Given the description of an element on the screen output the (x, y) to click on. 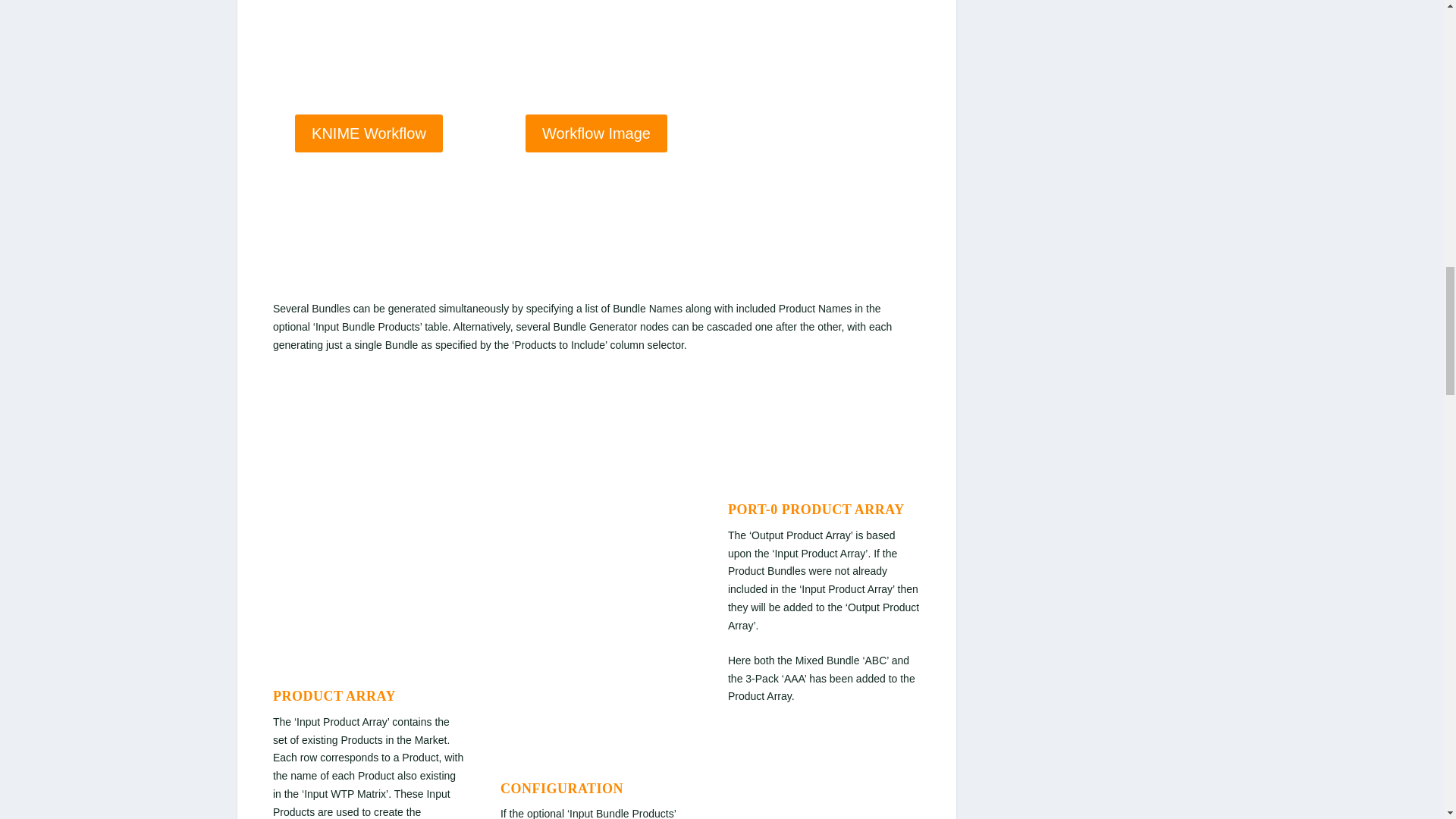
Workflow Image (595, 133)
KNIME Workflow (368, 133)
